Given the description of an element on the screen output the (x, y) to click on. 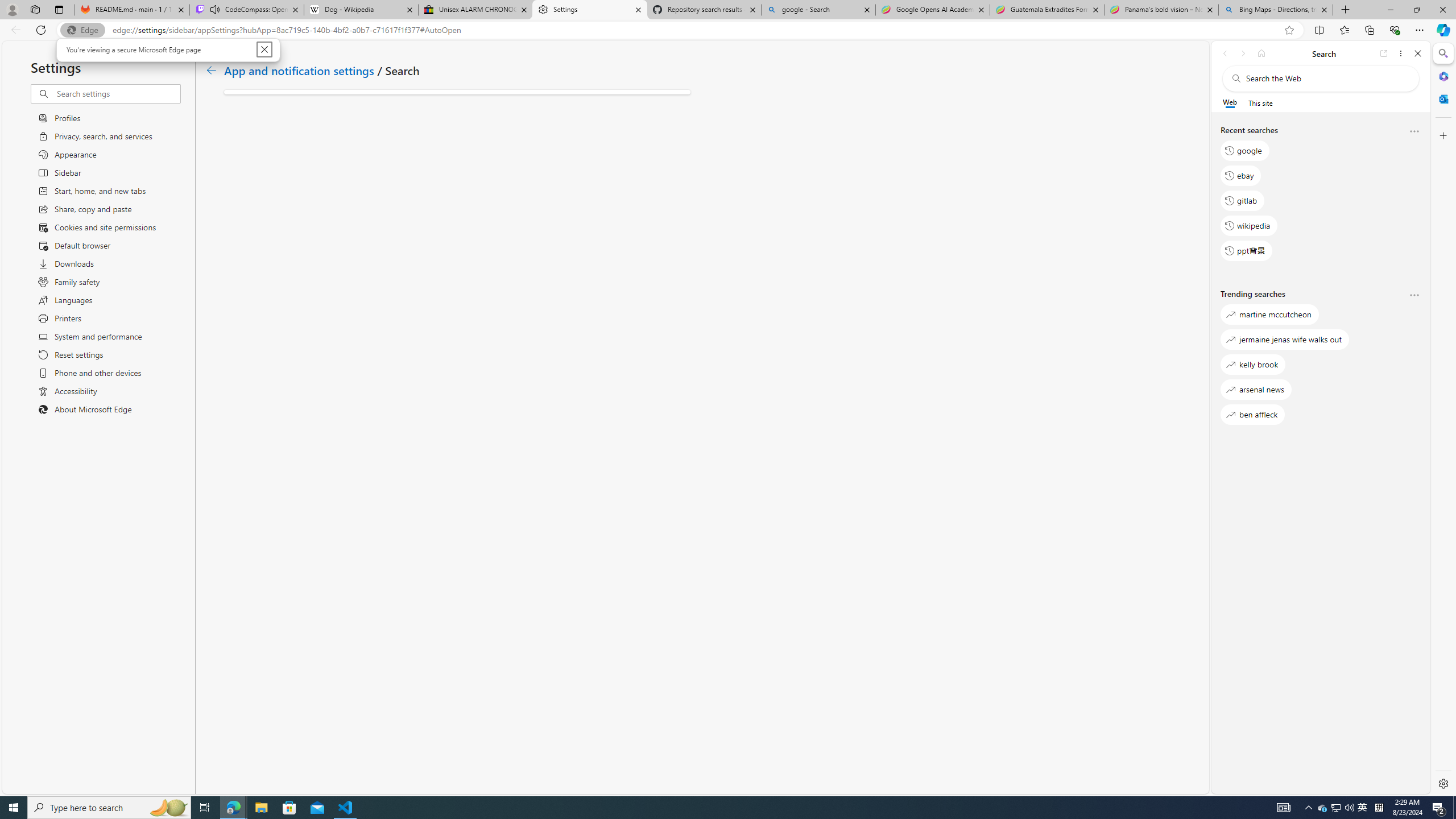
martine mccutcheon (1269, 314)
